Given the description of an element on the screen output the (x, y) to click on. 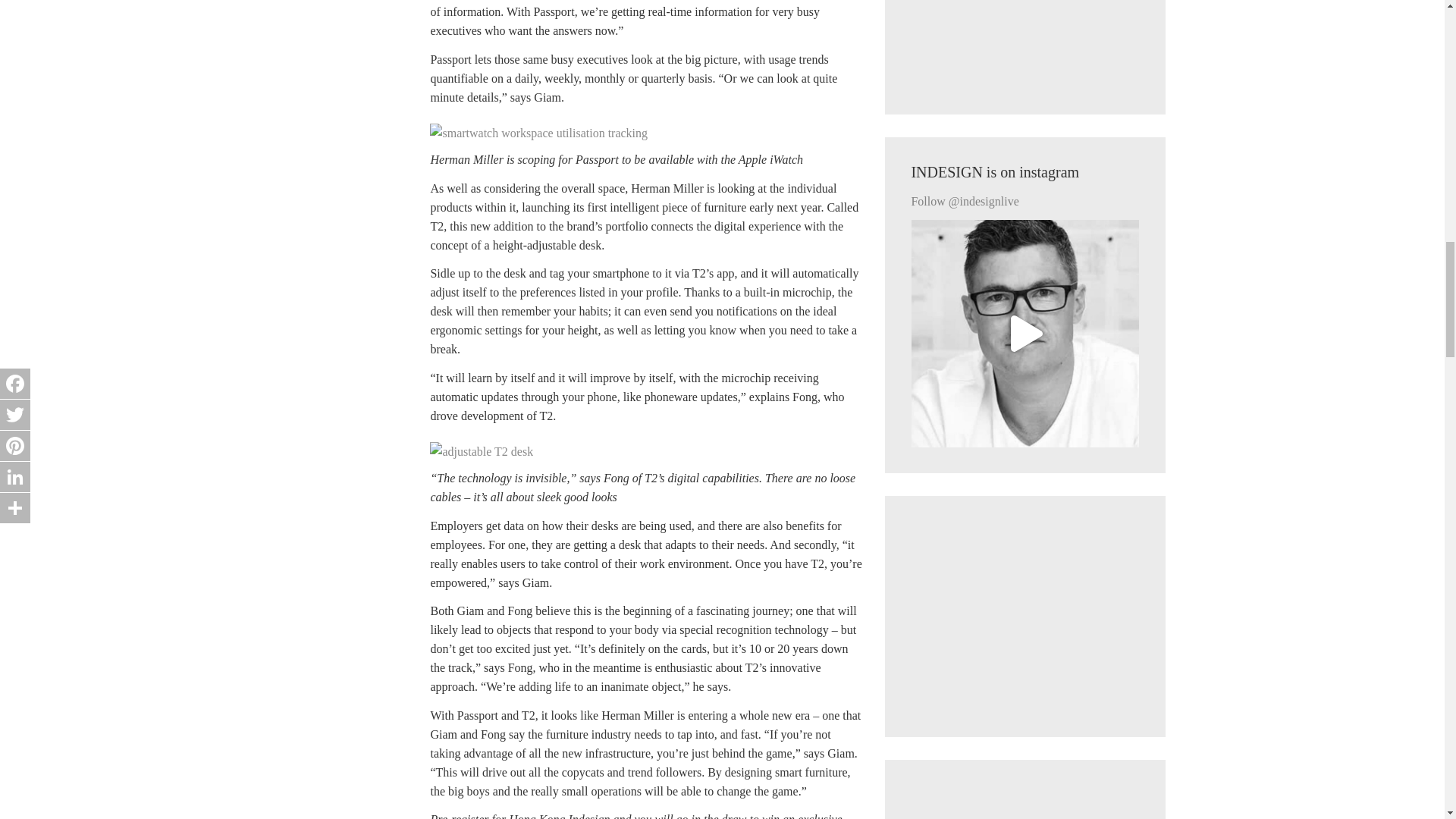
3rd party ad content (1024, 44)
